Given the description of an element on the screen output the (x, y) to click on. 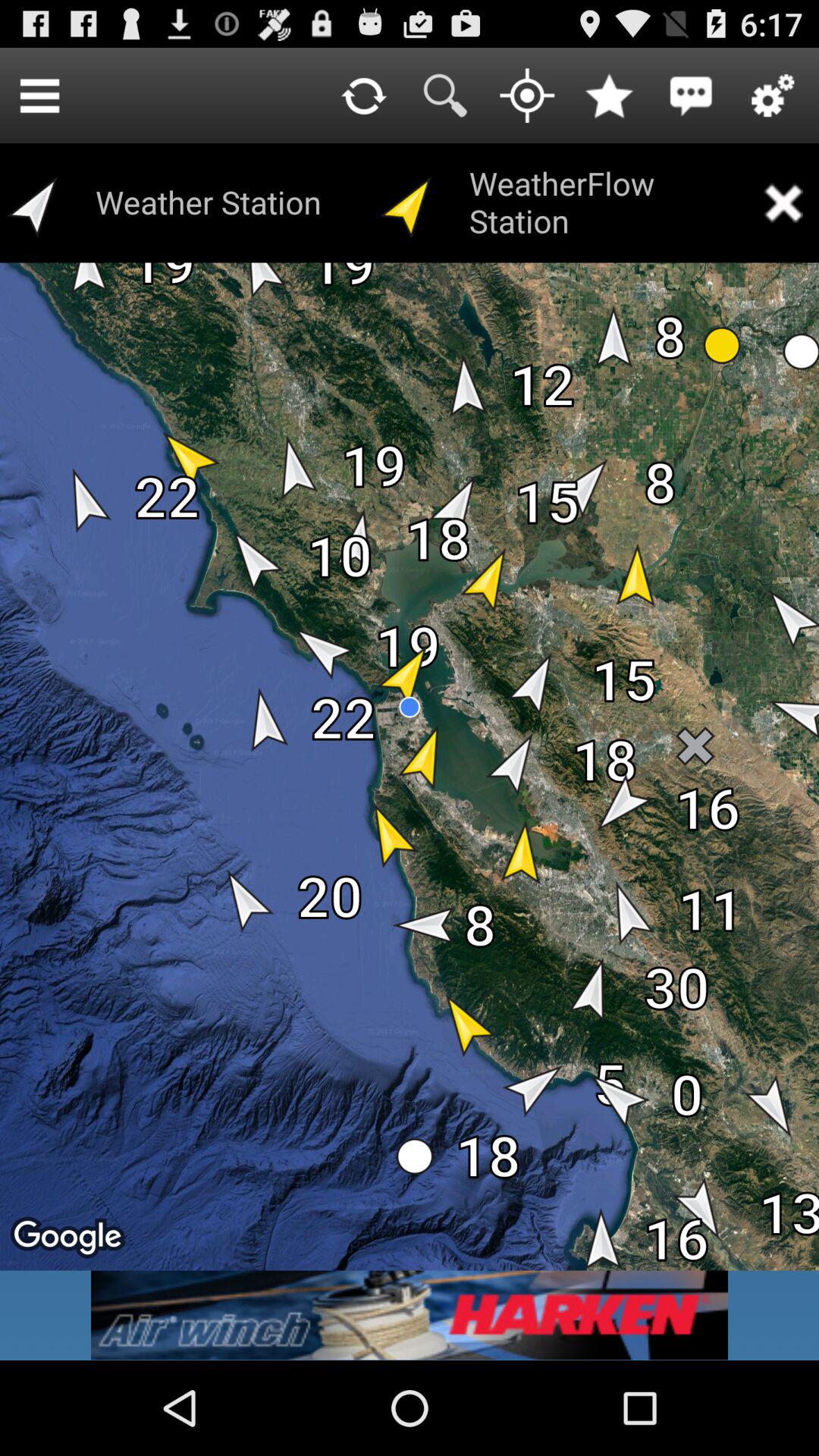
advertisement (409, 1314)
